Given the description of an element on the screen output the (x, y) to click on. 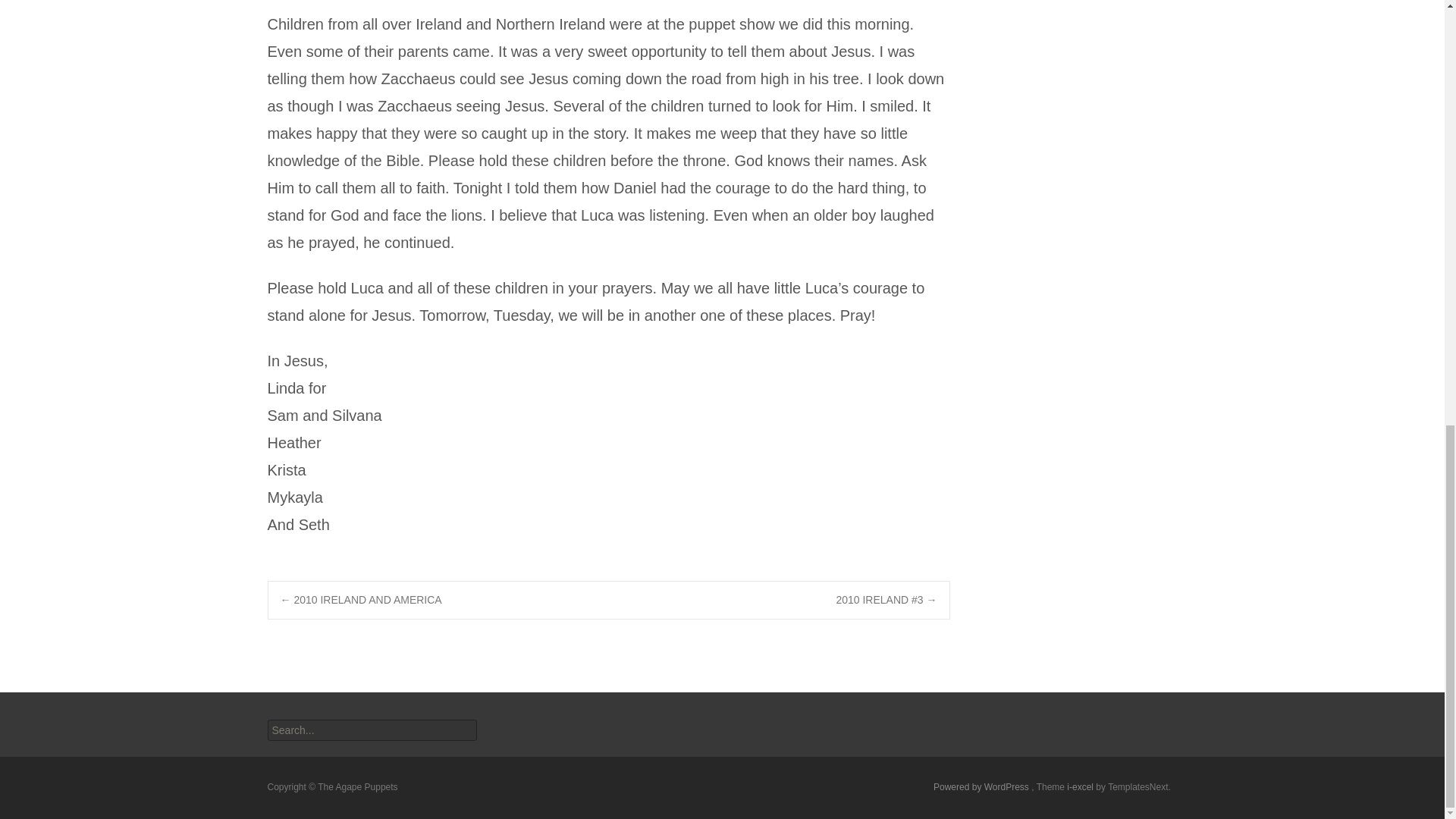
Semantic Personal Publishing Platform (981, 787)
Powered by WordPress (981, 787)
Multipurpose Business WooCommerce Theme (1081, 787)
i-excel (1081, 787)
Search for: (371, 730)
